Given the description of an element on the screen output the (x, y) to click on. 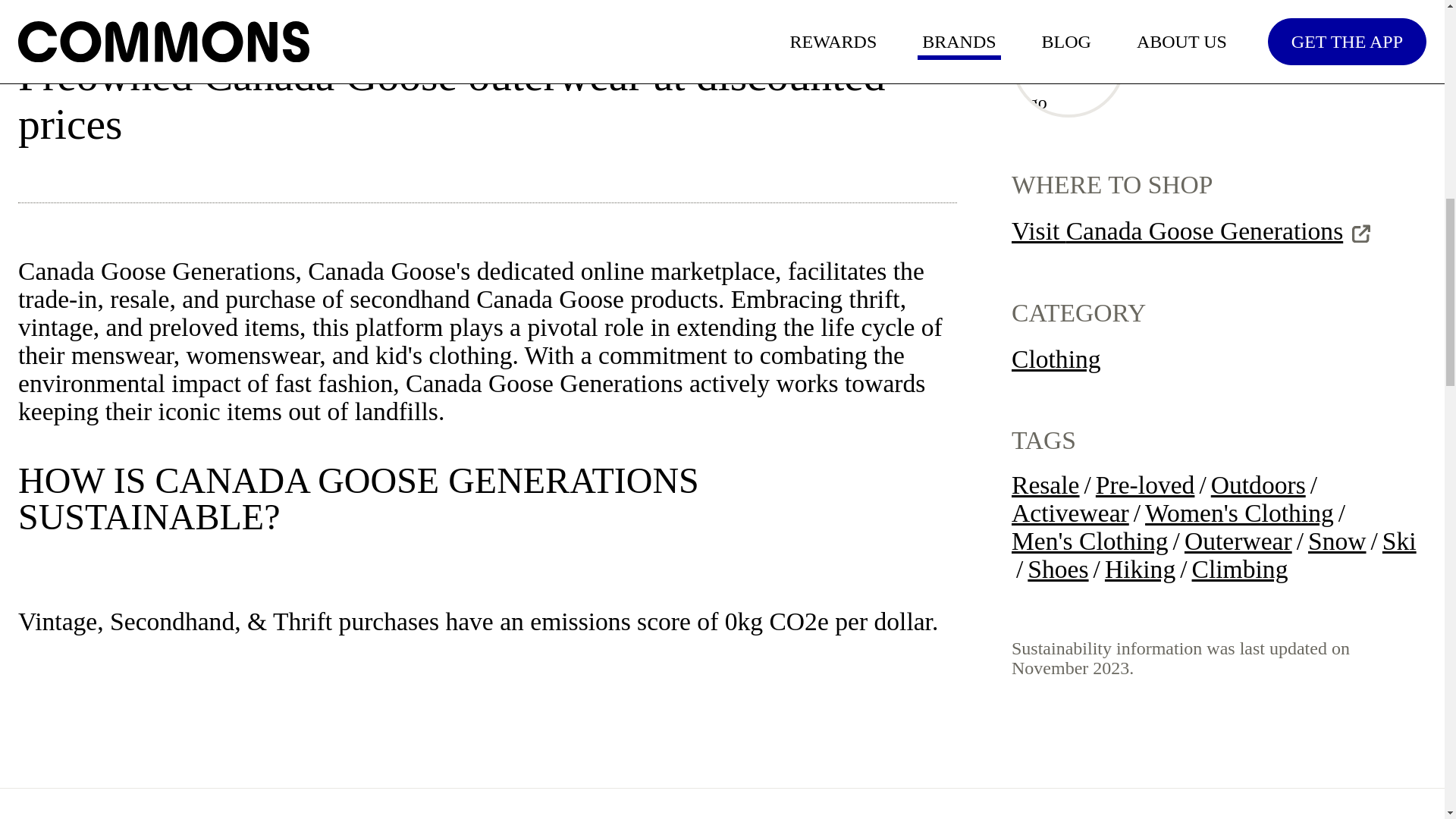
Outerwear (1238, 541)
Pre-loved (1145, 485)
Visit Canada Goose Generations (1190, 231)
Outdoors (1258, 485)
Ski (1398, 541)
Climbing (1240, 569)
Hiking (1139, 569)
Clothing (1055, 359)
Activewear (1070, 513)
Resale (1045, 485)
Men's Clothing (1090, 541)
Shoes (1057, 569)
Women's Clothing (1238, 513)
Snow (1337, 541)
